Given the description of an element on the screen output the (x, y) to click on. 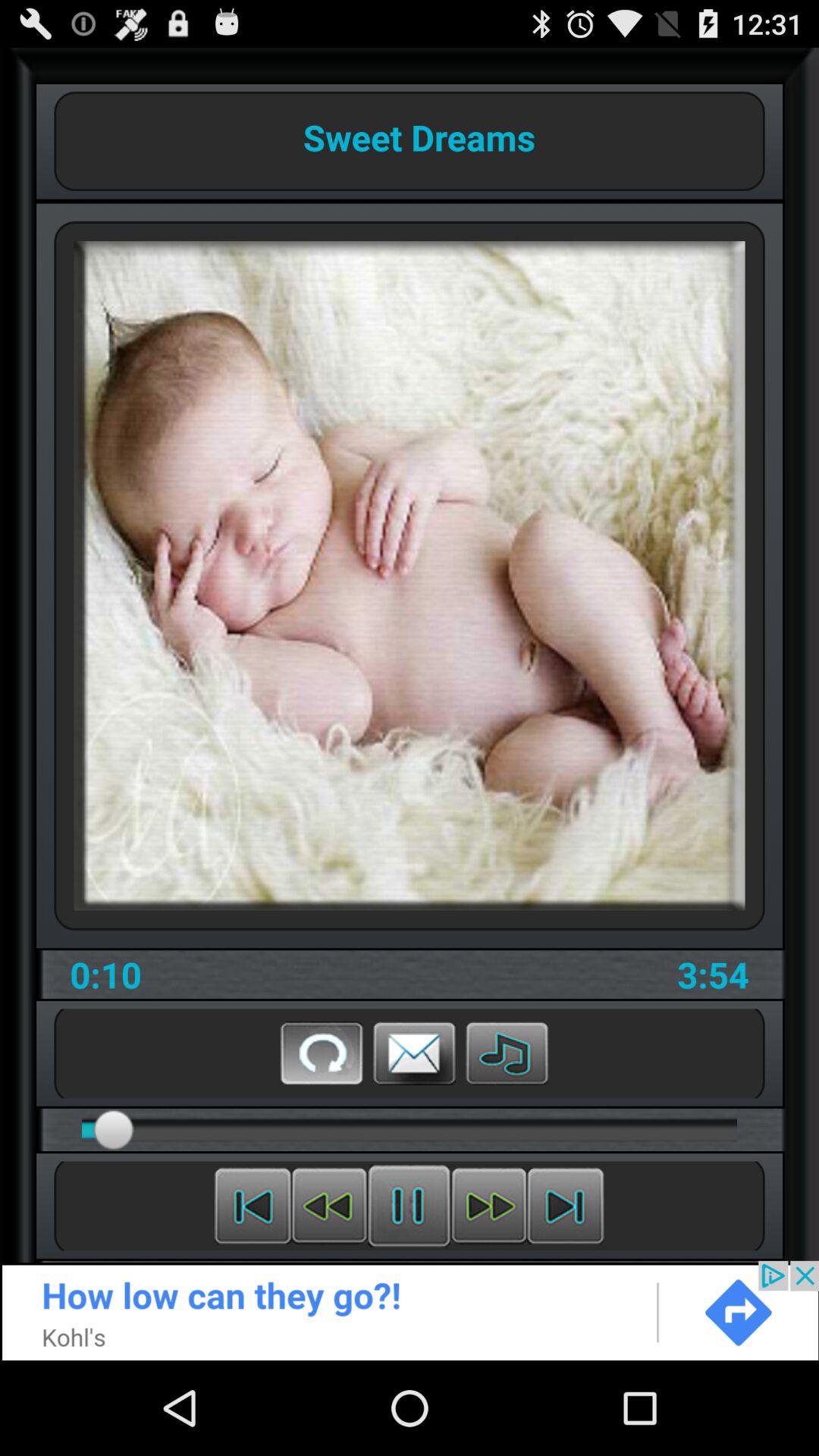
advertisement button (409, 1310)
